Given the description of an element on the screen output the (x, y) to click on. 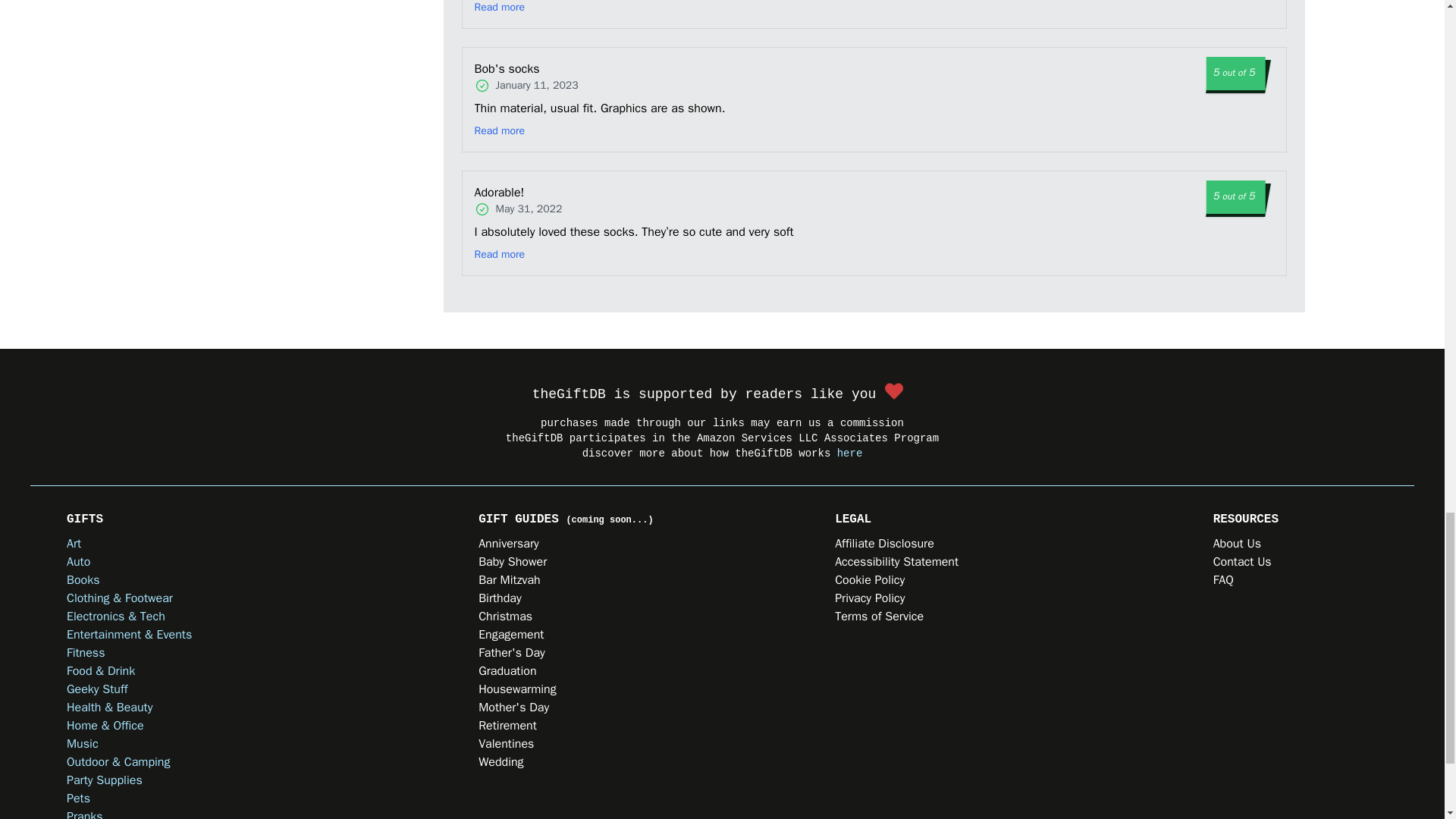
Adorable! (533, 192)
Read more (499, 7)
Read more (499, 130)
Bob's socks (544, 68)
